Given the description of an element on the screen output the (x, y) to click on. 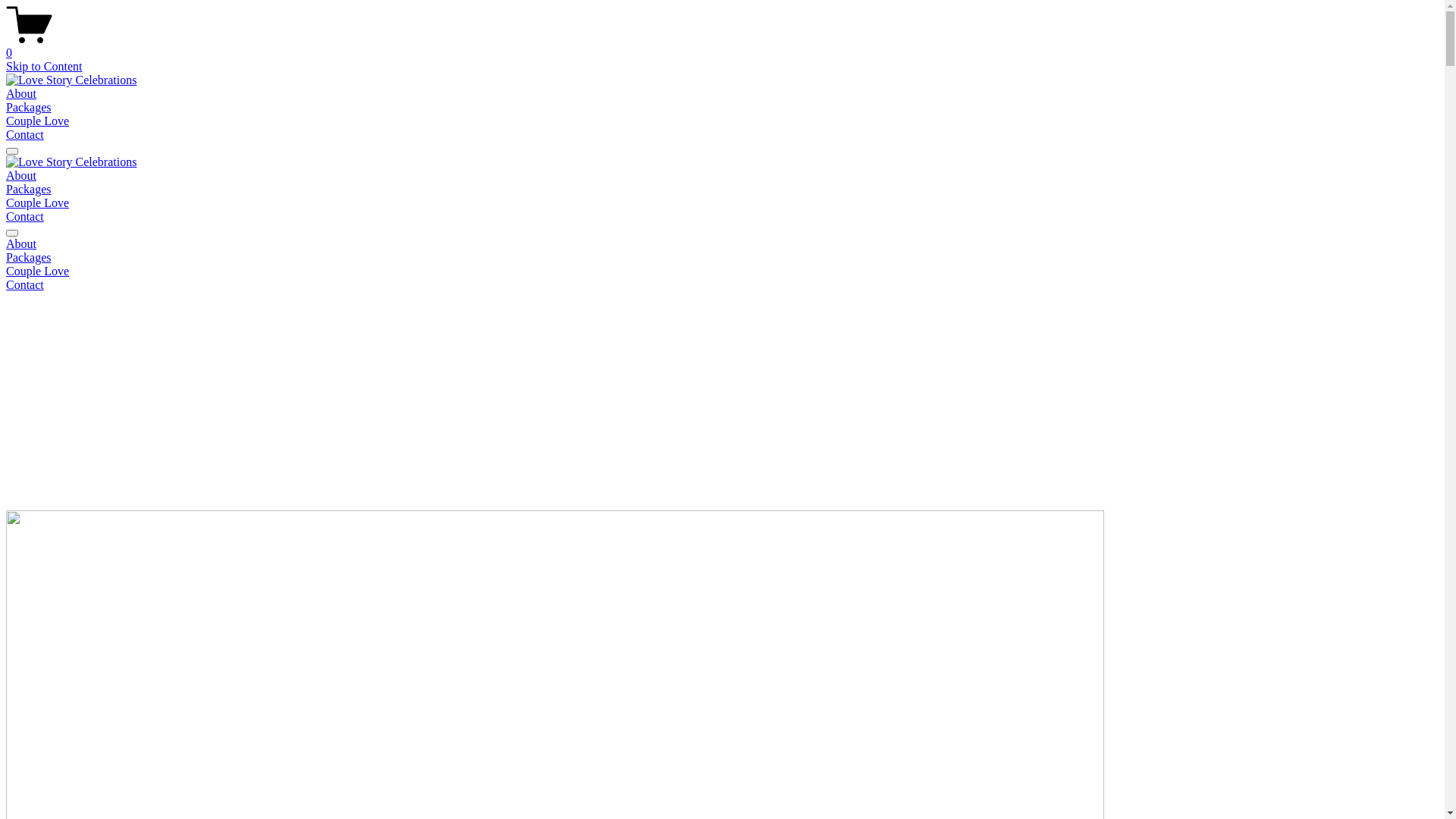
Couple Love Element type: text (37, 202)
About Element type: text (21, 175)
Contact Element type: text (24, 216)
About Element type: text (722, 244)
0 Element type: text (722, 45)
Contact Element type: text (24, 134)
Couple Love Element type: text (37, 120)
Couple Love Element type: text (722, 271)
Packages Element type: text (28, 188)
About Element type: text (21, 93)
Contact Element type: text (722, 284)
Packages Element type: text (722, 257)
Skip to Content Element type: text (43, 65)
Packages Element type: text (28, 106)
